Given the description of an element on the screen output the (x, y) to click on. 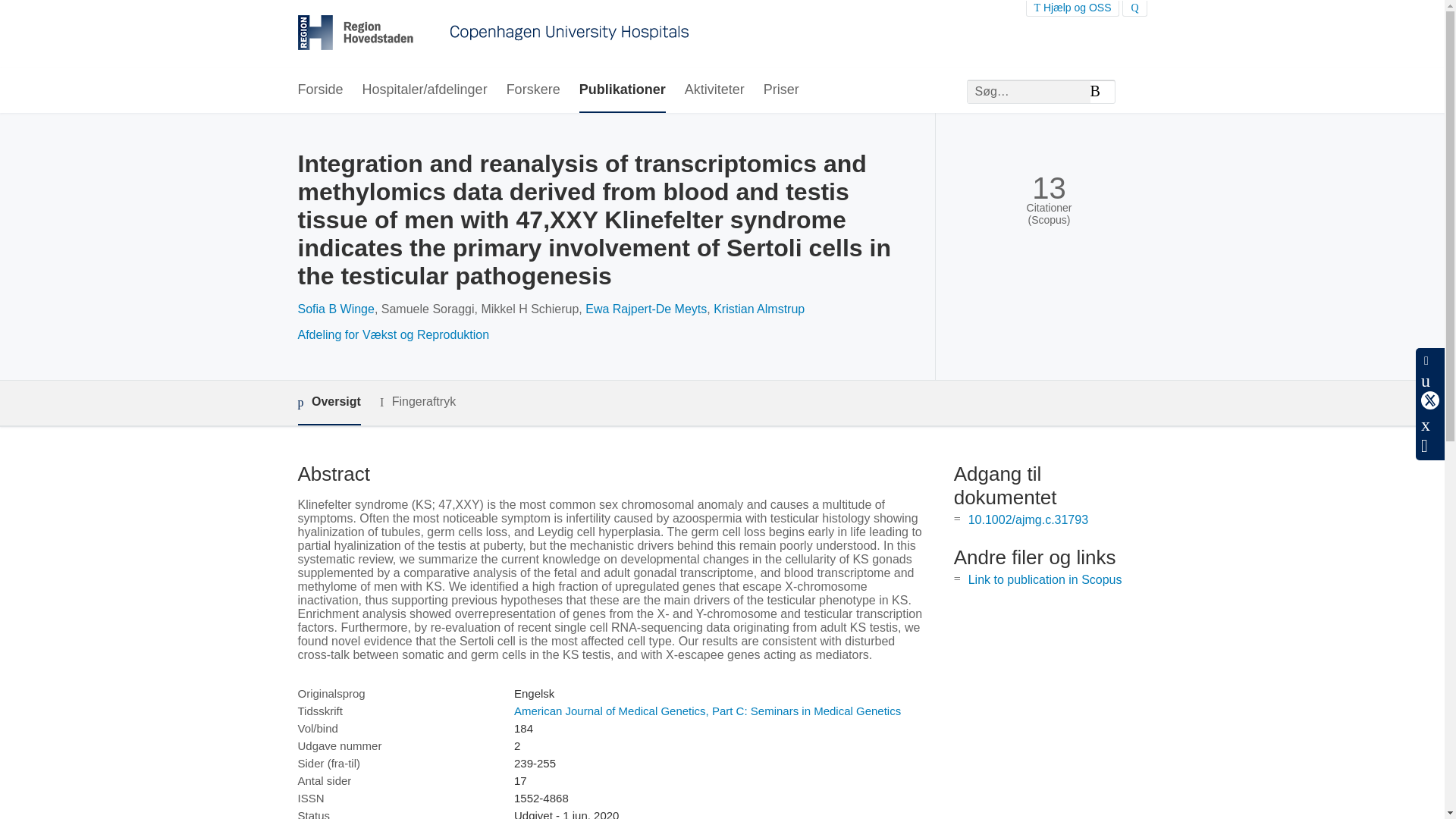
Sofia B Winge (335, 308)
Link to publication in Scopus (1045, 579)
Forside (319, 90)
Publikationer (622, 90)
Kristian Almstrup (759, 308)
Aktiviteter (714, 90)
Ewa Rajpert-De Meyts (645, 308)
Fingeraftryk (417, 402)
Forskere (533, 90)
Region Hovedstadens forskningsportal Forside (492, 34)
Oversigt (328, 402)
